Given the description of an element on the screen output the (x, y) to click on. 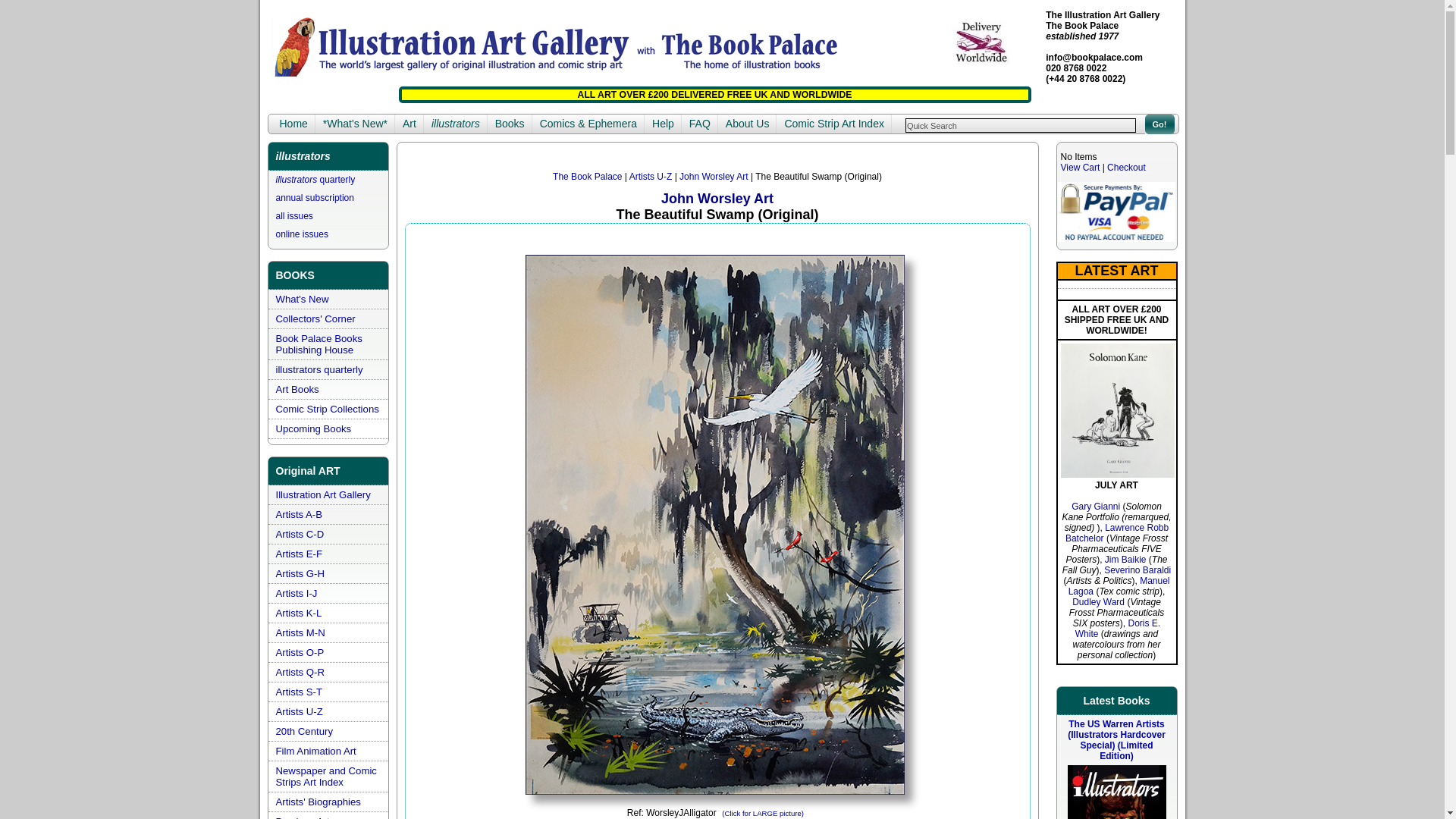
Art (408, 123)
Our latest art, books and comics (302, 298)
Artists O-P (300, 652)
FAQ (699, 123)
About Us (747, 123)
Go! (1159, 124)
20th Century (304, 731)
Artists S-T (299, 691)
Art Books (297, 389)
all issues (294, 215)
annual subscription (314, 197)
illustrators quarterly (319, 369)
Artists I-J (296, 593)
Book Palace Books Publishing House (319, 343)
Book Palace Books Publishing House (319, 343)
